Given the description of an element on the screen output the (x, y) to click on. 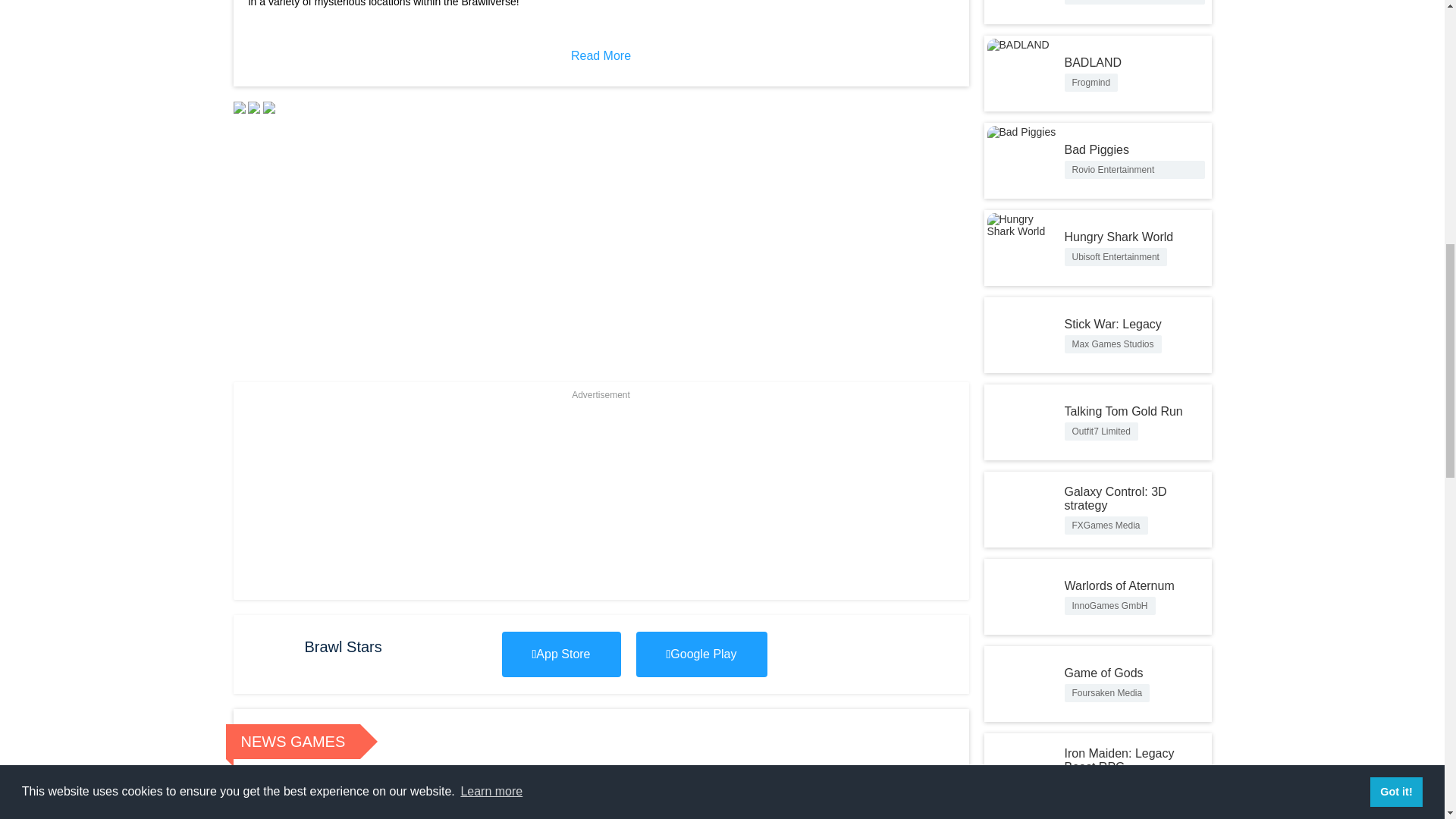
App Store (561, 654)
Read More (649, 792)
Google Play (880, 792)
